Given the description of an element on the screen output the (x, y) to click on. 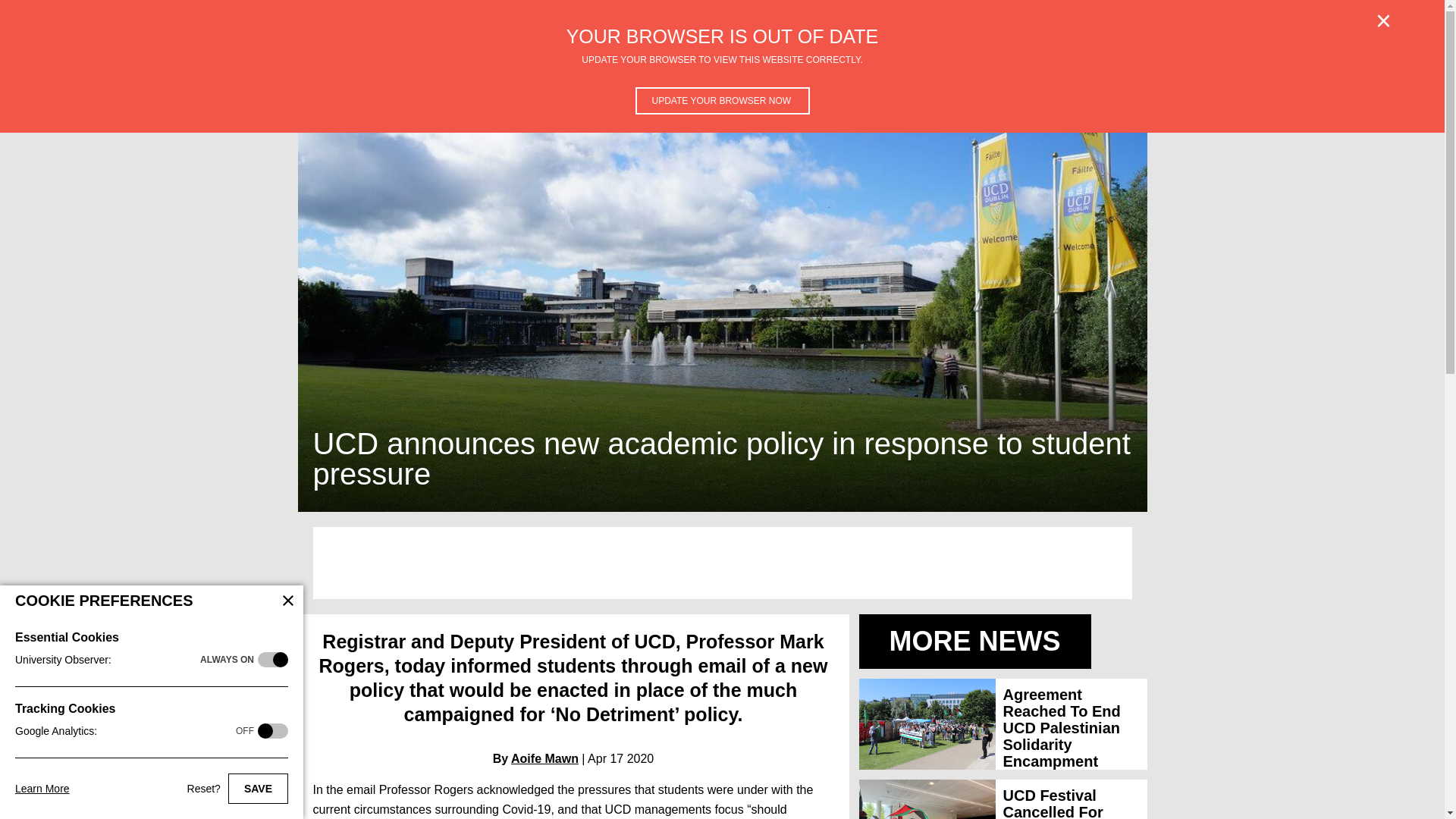
Sport (667, 73)
Advertisement (722, 562)
Columns (926, 73)
The Harpy (848, 73)
Features (366, 73)
Advertisement (1018, 73)
Gaeilge (725, 73)
Science (501, 73)
